Given the description of an element on the screen output the (x, y) to click on. 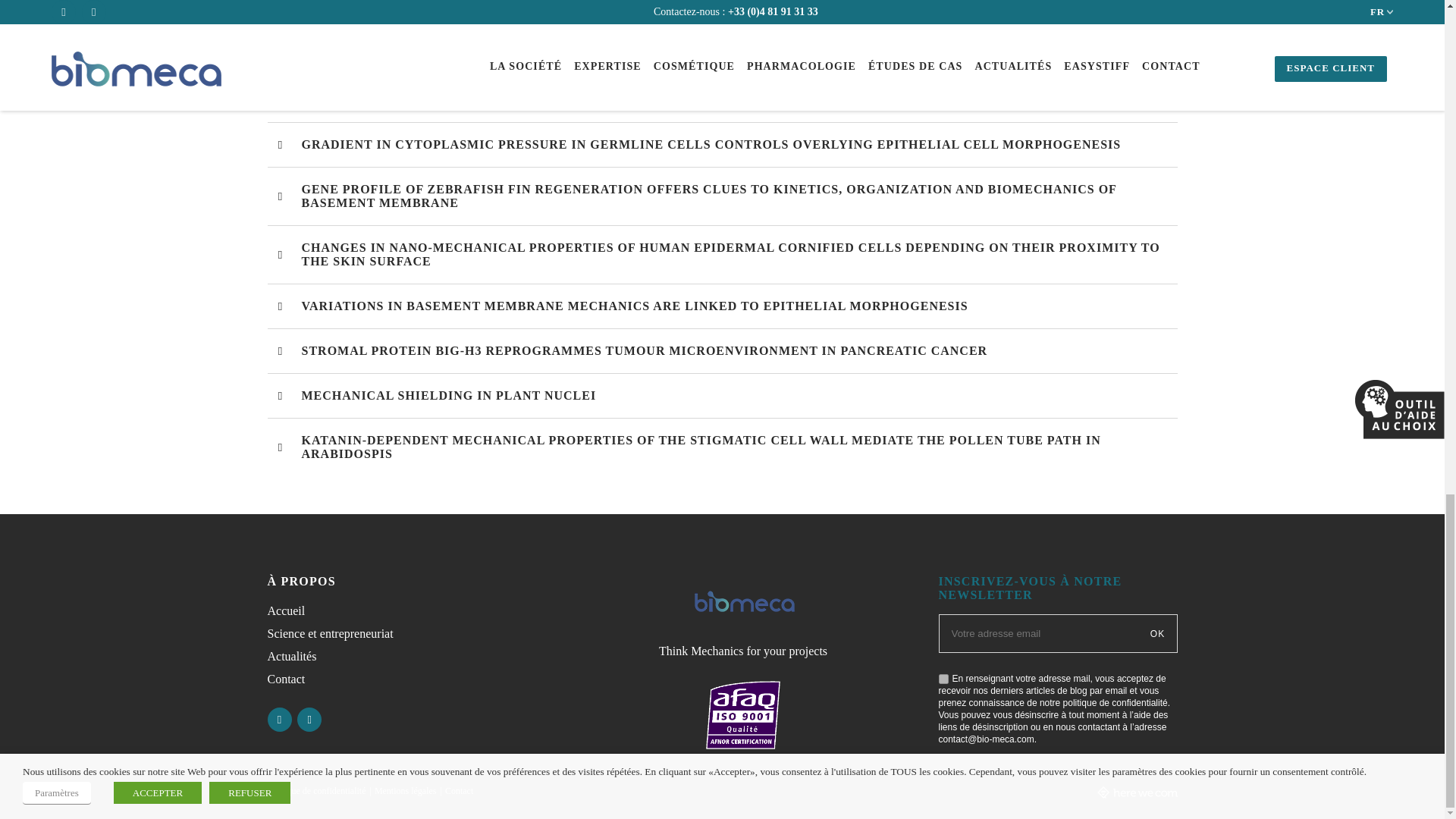
Rejoignez-nous sur Linkedin (278, 719)
on (944, 678)
Ok (1158, 633)
Rejoignez-nous sur Youtube (309, 719)
